Given the description of an element on the screen output the (x, y) to click on. 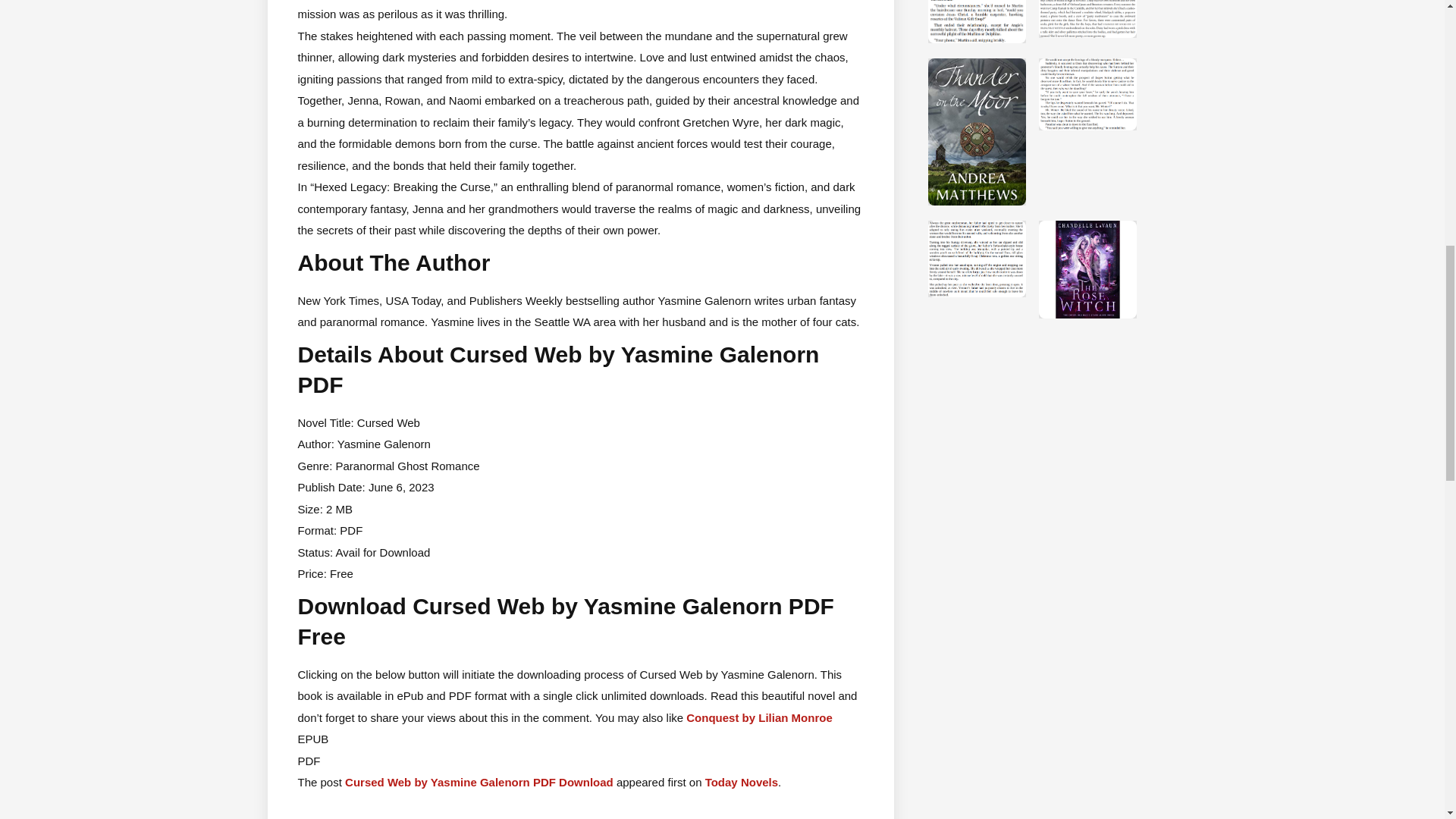
Today Novels (740, 781)
Cursed Web by Yasmine Galenorn PDF Download (478, 781)
Conquest by Lilian Monroe (758, 717)
